Given the description of an element on the screen output the (x, y) to click on. 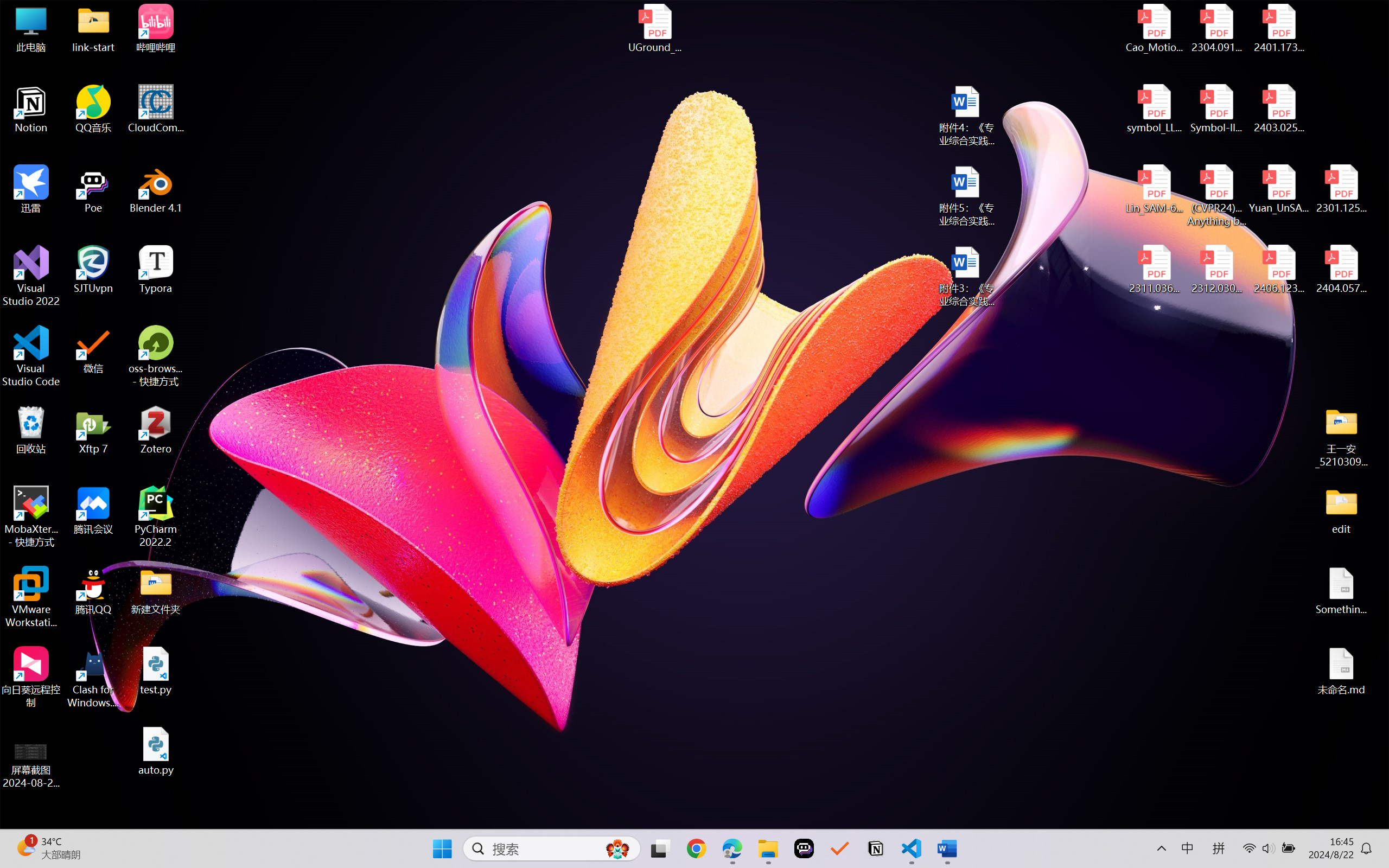
2404.05719v1.pdf (1340, 269)
Visual Studio Code (31, 355)
symbol_LLM.pdf (1154, 109)
test.py (156, 670)
Xftp 7 (93, 430)
2301.12597v3.pdf (1340, 189)
2406.12373v2.pdf (1278, 269)
Visual Studio 2022 (31, 276)
